Given the description of an element on the screen output the (x, y) to click on. 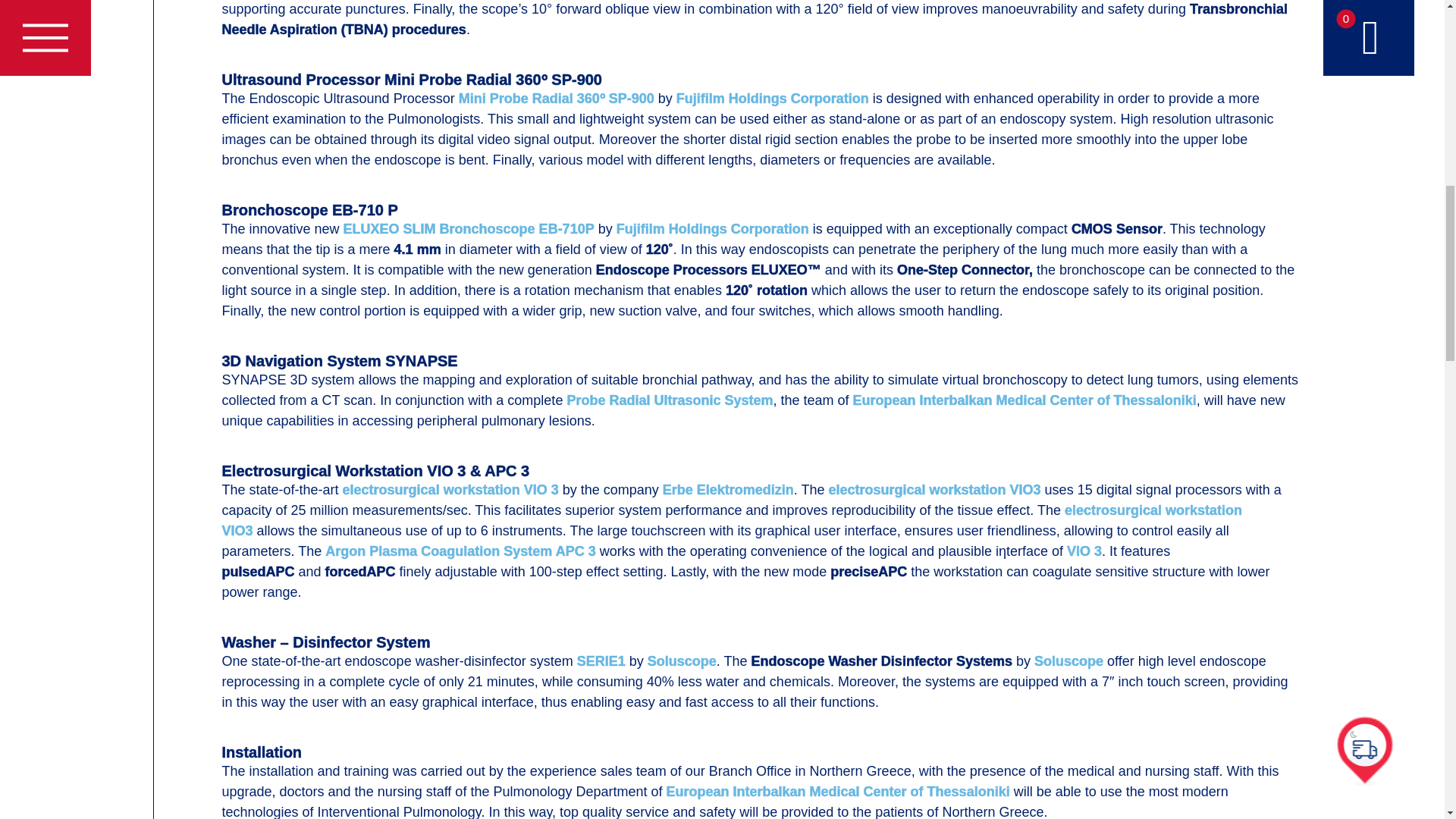
ELUXEO SLIM Bronchoscope EB-710P (468, 230)
Argon Plasma Coagulation System APC 3 (459, 552)
Erbe Elektromedizin (727, 490)
Probe Radial Ultrasonic System (669, 401)
Fujifilm Holdings Corporation (773, 99)
Fujifilm Holdings Corporation (712, 230)
European Interbalkan Medical Center of Thessaloniki (1024, 401)
